Given the description of an element on the screen output the (x, y) to click on. 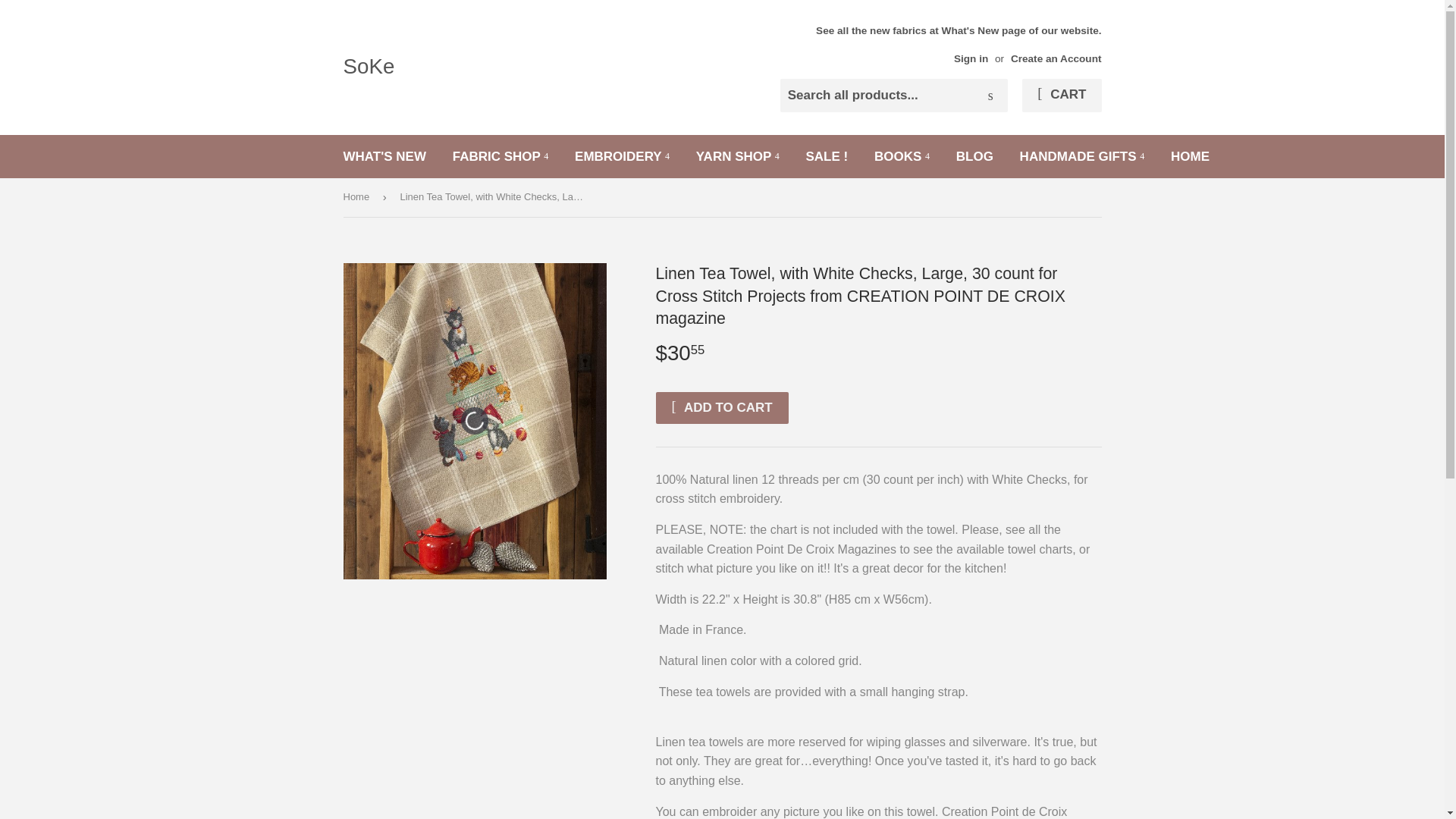
WHAT'S NEW (384, 156)
See all the new fabrics at What's New page of our website. (957, 43)
Sign in (970, 58)
SoKe (532, 66)
Create an Account (1056, 58)
CART (1061, 95)
Search (990, 96)
FABRIC SHOP (500, 156)
